Given the description of an element on the screen output the (x, y) to click on. 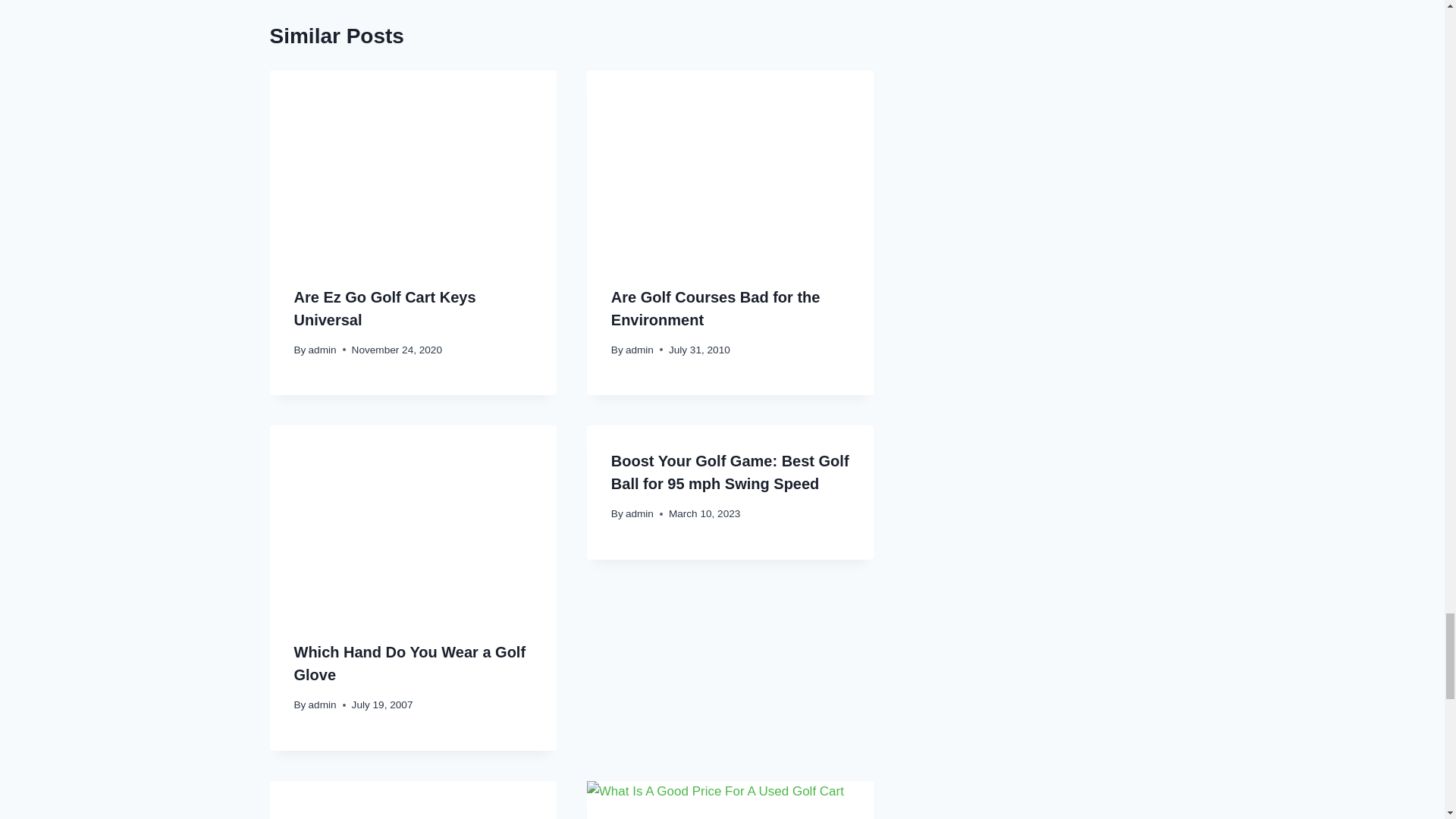
Are Ez Go Golf Cart Keys Universal (385, 308)
Are Golf Courses Bad for the Environment (716, 308)
admin (639, 513)
admin (322, 349)
admin (639, 349)
admin (322, 704)
Boost Your Golf Game: Best Golf Ball for 95 mph Swing Speed (729, 472)
Which Hand Do You Wear a Golf Glove (409, 663)
